Given the description of an element on the screen output the (x, y) to click on. 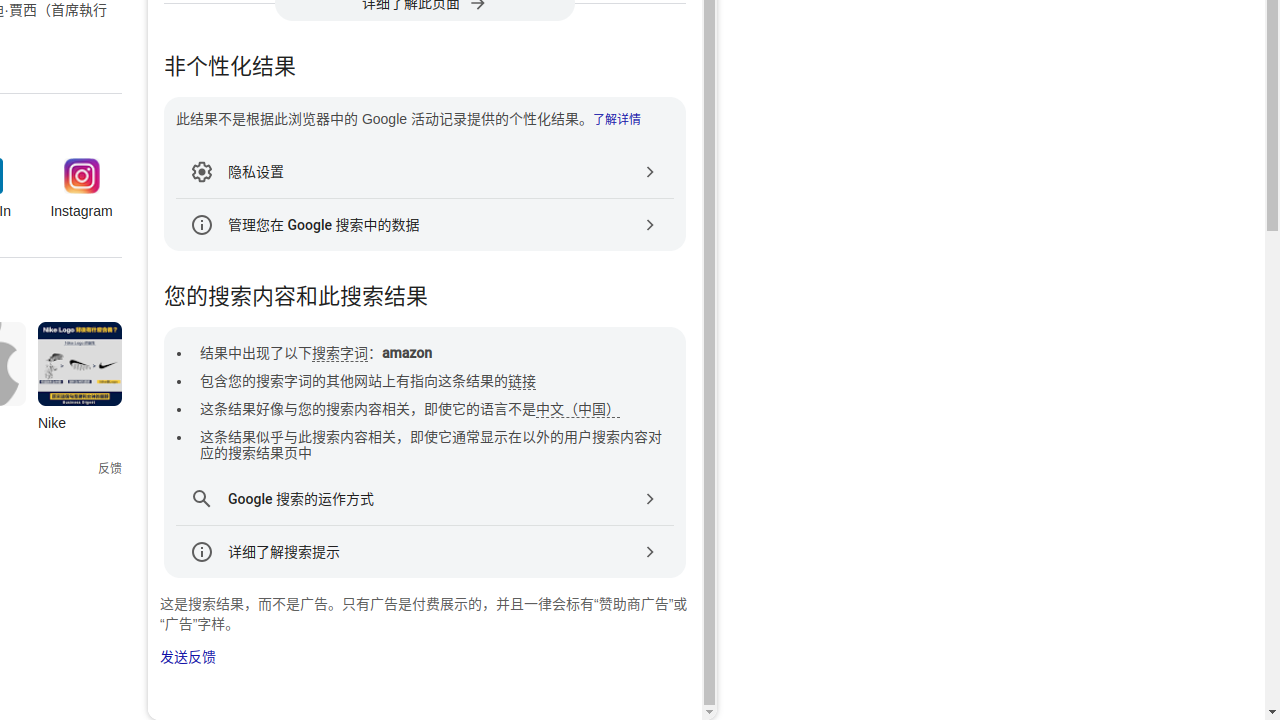
这条结果好像与您的搜索内容相关，即使它的语言不是中文（中国） Element type: push-button (410, 409)
这条结果似乎与此搜索内容相关，即使它通常显示在以外的用户搜索内容对应的搜索结果页中 Element type: push-button (431, 444)
管理您在 Google 搜索中的数据 Element type: link (425, 225)
发送反馈 Element type: link (188, 657)
包含您的搜索字词的其他网站上有指向这条结果的链接 Element type: push-button (368, 381)
